Given the description of an element on the screen output the (x, y) to click on. 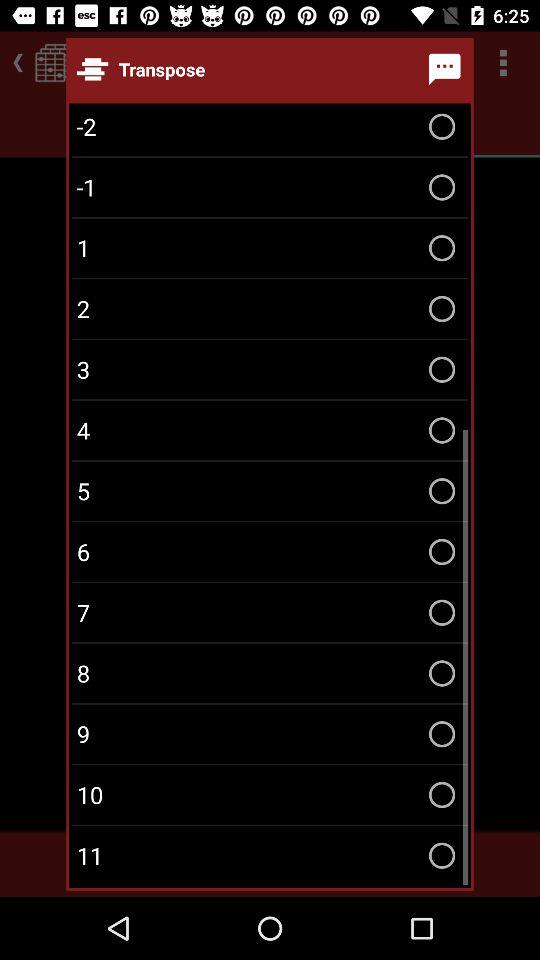
swipe to the 7 icon (269, 612)
